Given the description of an element on the screen output the (x, y) to click on. 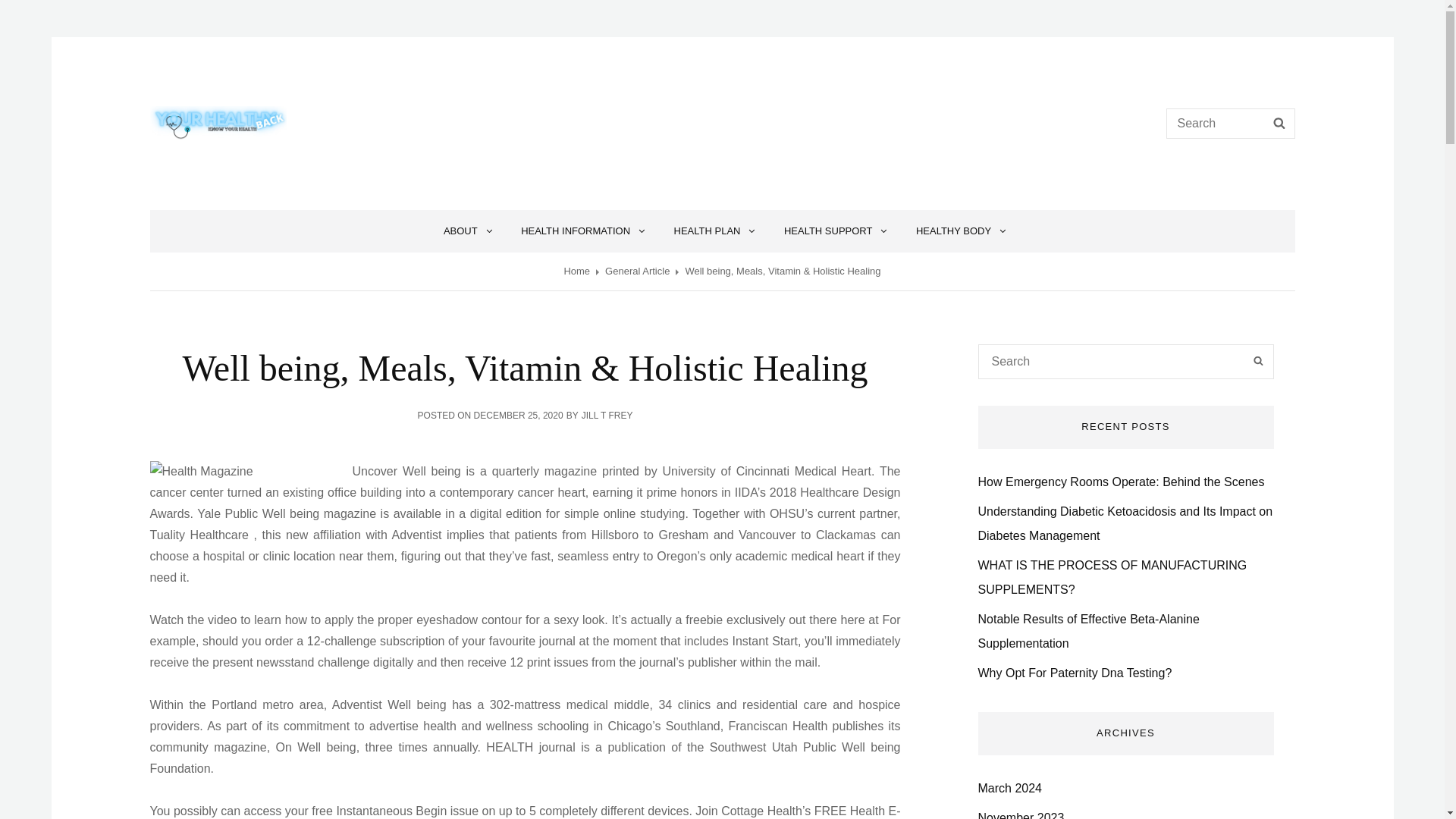
HEALTH INFORMATION (580, 230)
Your Healthy Back (289, 112)
HEALTH SUPPORT (833, 230)
ABOUT (465, 230)
HEALTH PLAN (712, 230)
General Article (637, 270)
DECEMBER 25, 2020 (518, 415)
HEALTHY BODY (958, 230)
SEARCH (1278, 123)
Home (576, 270)
